Given the description of an element on the screen output the (x, y) to click on. 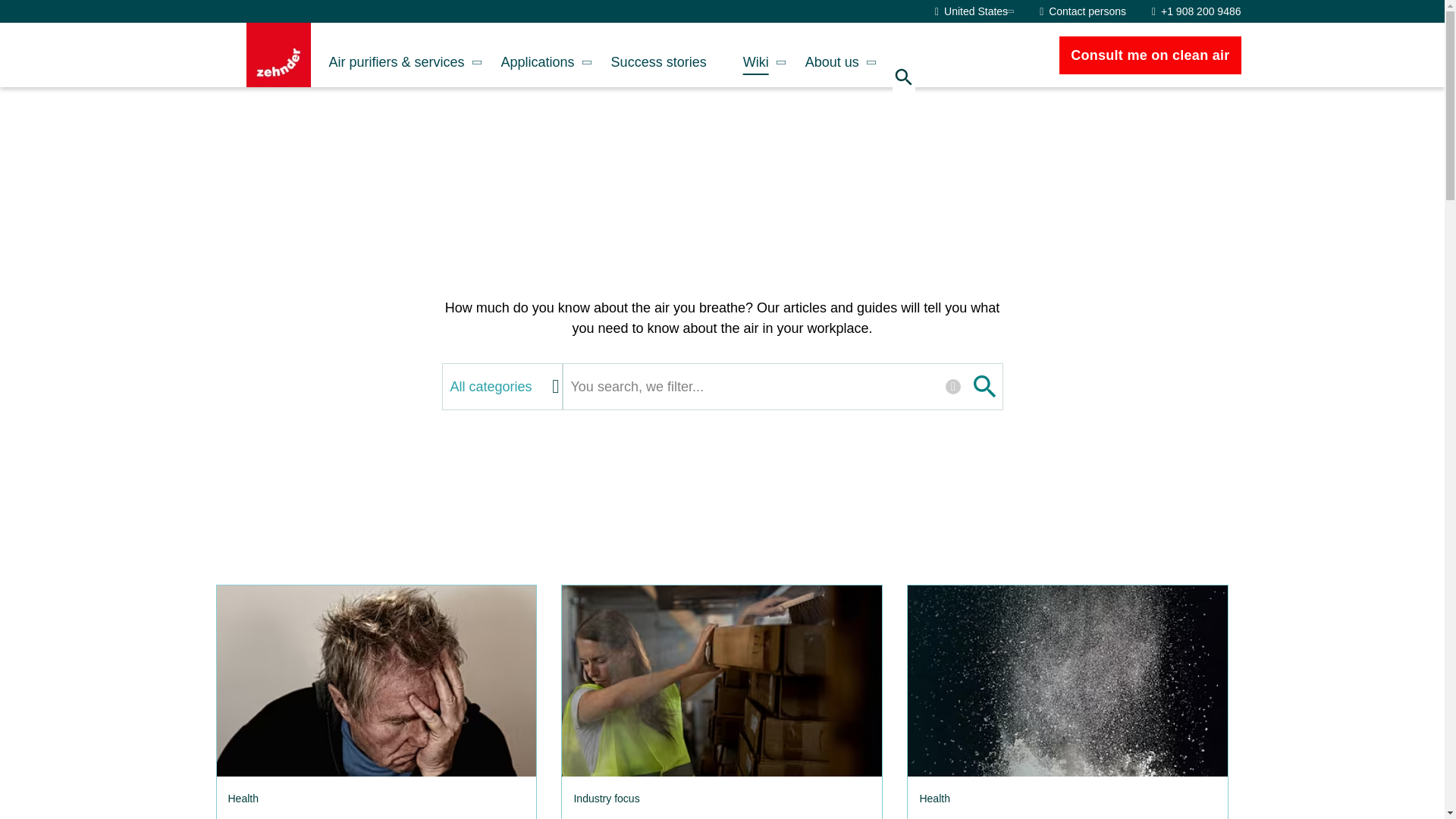
Wiki (756, 54)
The harmful mental health effects of air pollution (375, 680)
Applications (537, 54)
Success stories (658, 54)
About us (832, 54)
Contact persons (1082, 10)
